Given the description of an element on the screen output the (x, y) to click on. 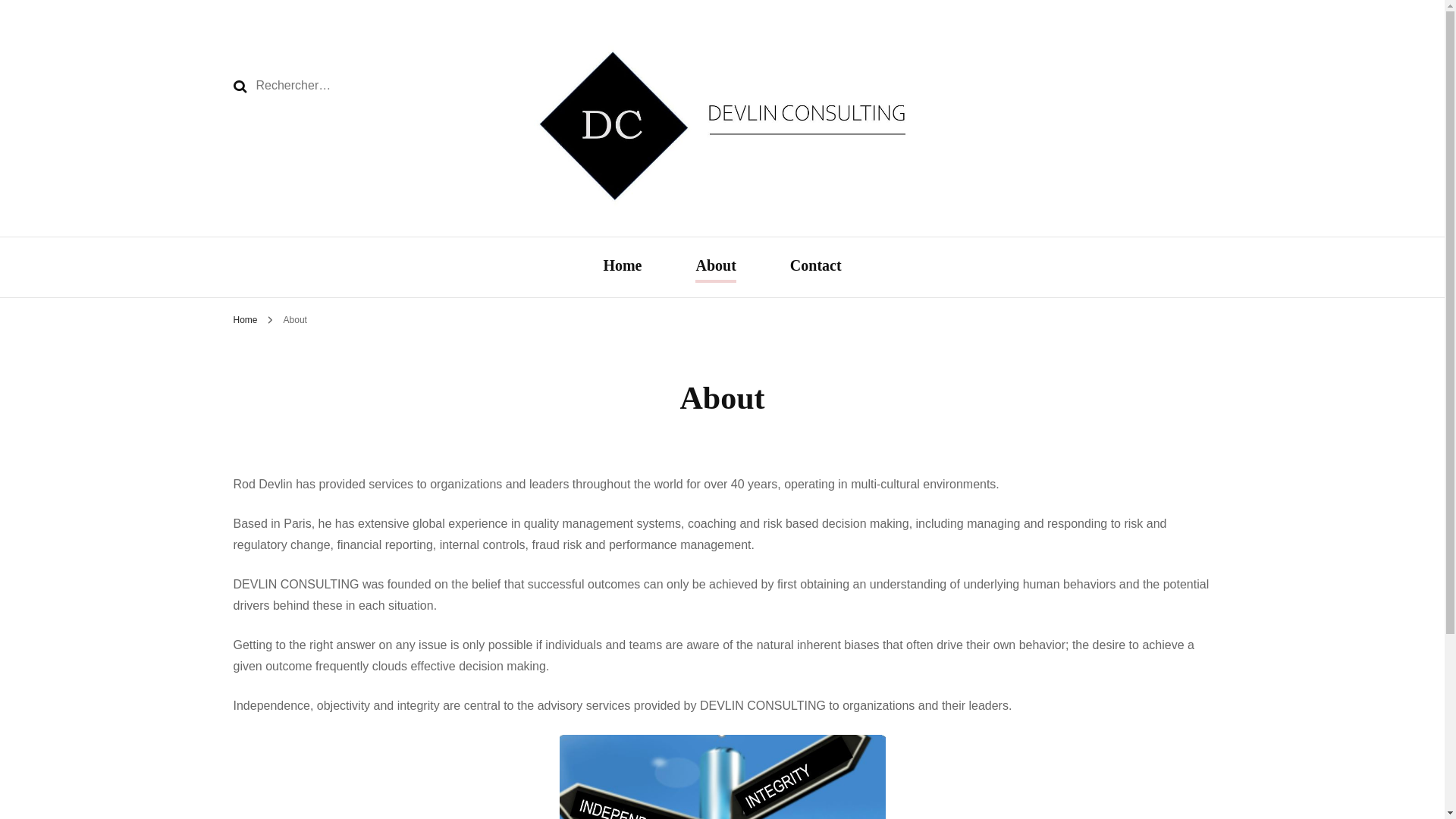
Home (622, 267)
About (715, 267)
Home (244, 319)
Rechercher (239, 86)
Rechercher (239, 86)
Rechercher (239, 86)
About (295, 319)
Contact (815, 267)
